Given the description of an element on the screen output the (x, y) to click on. 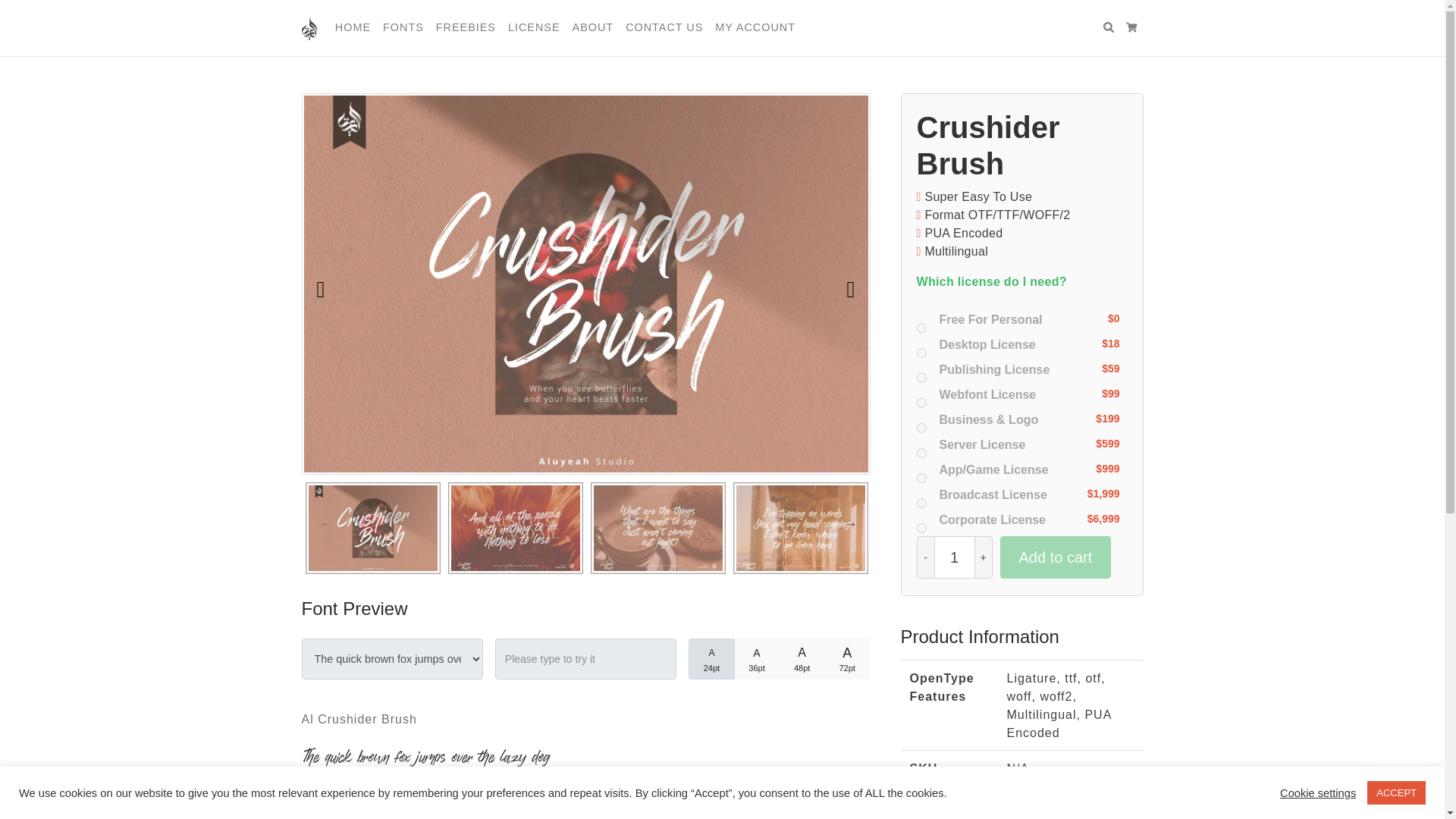
on (921, 327)
CONTACT US (664, 27)
on (921, 428)
HOME (353, 27)
on (921, 402)
32 (715, 648)
on (921, 528)
on (921, 378)
ABOUT (593, 27)
on (921, 502)
Previous (306, 523)
on (921, 478)
48 (762, 648)
LICENSE (534, 27)
1 (954, 557)
